Given the description of an element on the screen output the (x, y) to click on. 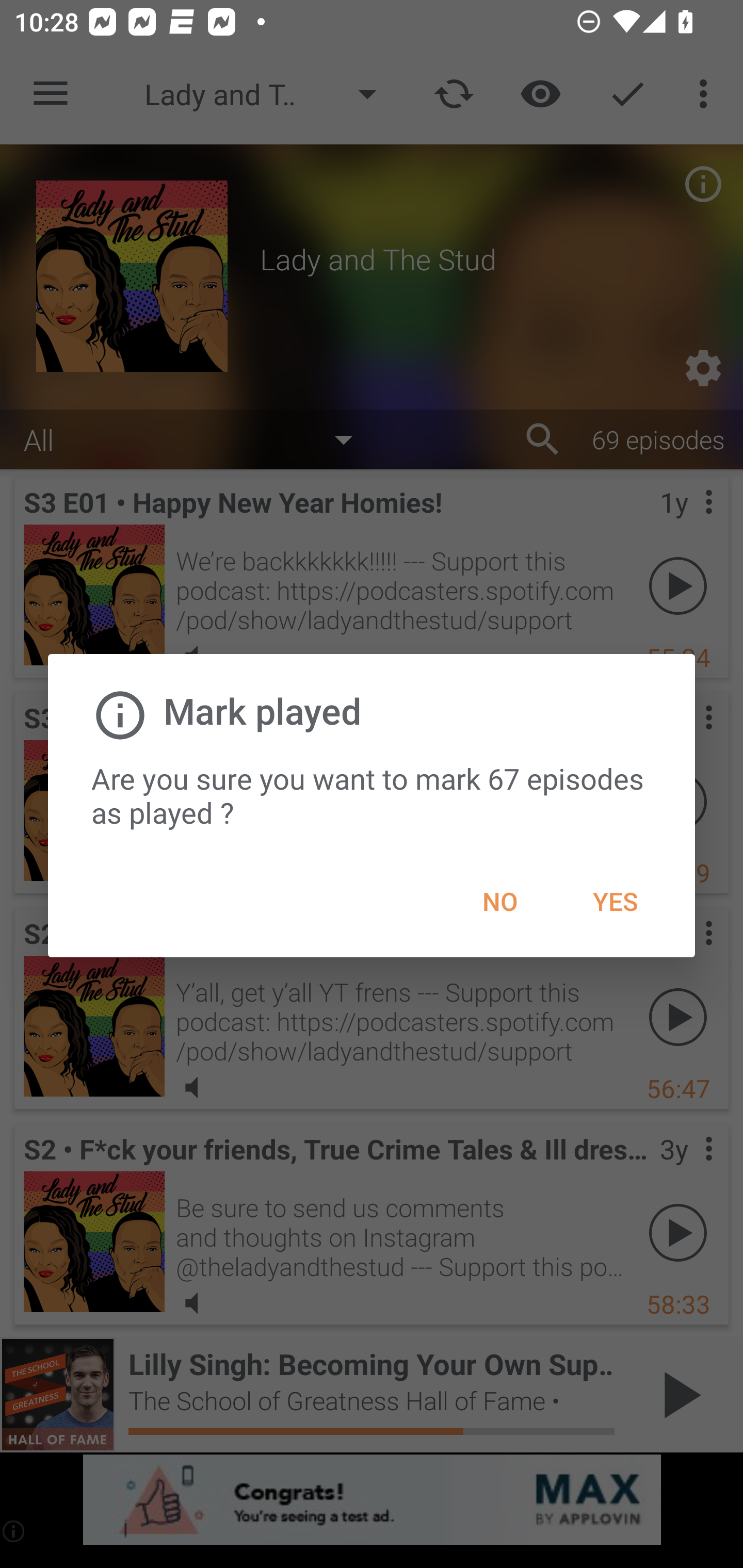
NO (499, 901)
YES (615, 901)
